Given the description of an element on the screen output the (x, y) to click on. 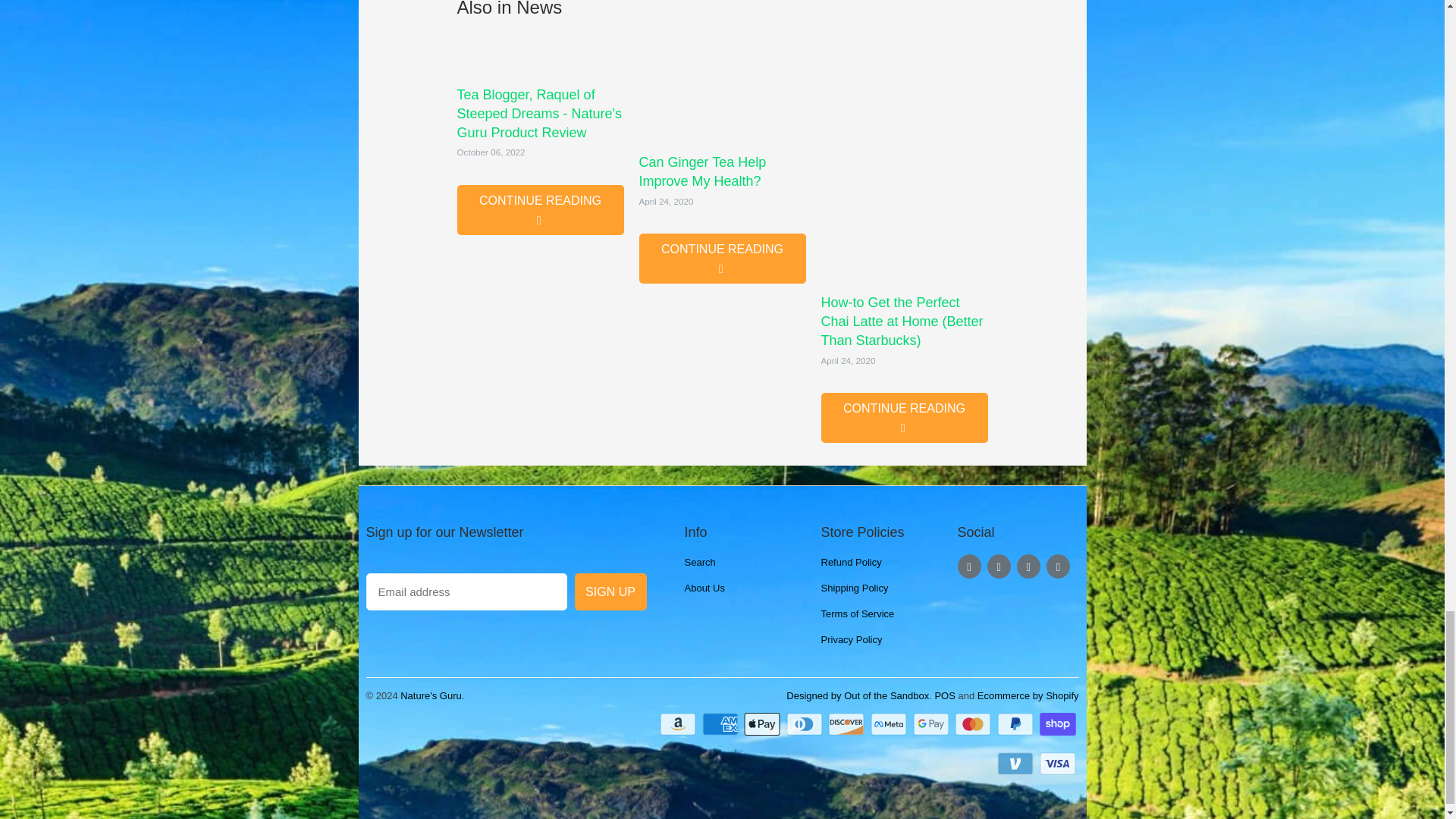
American Express (721, 723)
Visa (1058, 763)
Shop Pay (1058, 723)
Meta Pay (890, 723)
Venmo (1016, 763)
Apple Pay (763, 723)
Sign Up (610, 591)
Can Ginger Tea Help Improve My Health? (702, 171)
Amazon (678, 723)
Discover (847, 723)
Can Ginger Tea Help Improve My Health? (722, 258)
Can Ginger Tea Help Improve My Health? (722, 86)
